Given the description of an element on the screen output the (x, y) to click on. 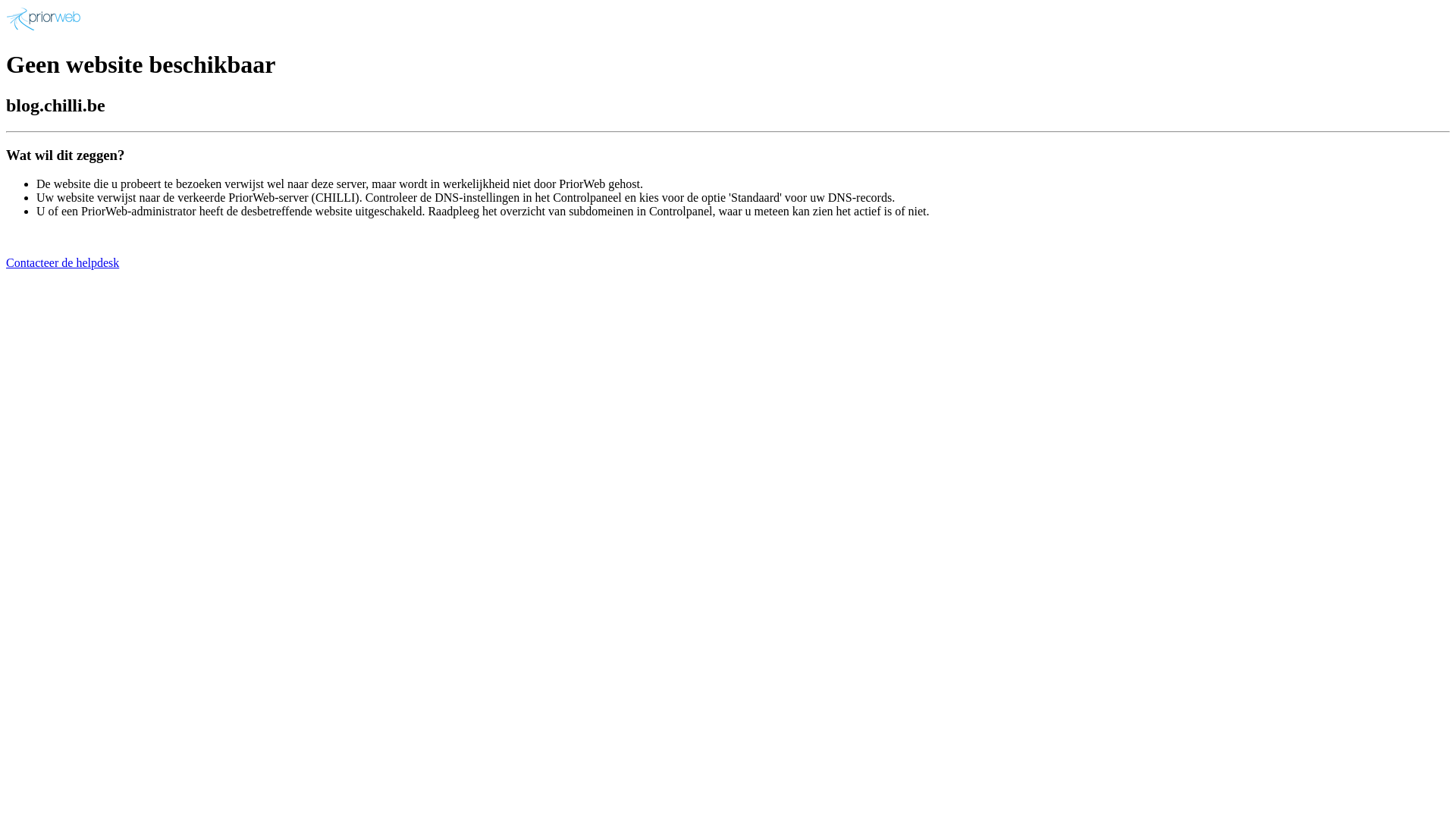
Contacteer de helpdesk Element type: text (62, 262)
